Given the description of an element on the screen output the (x, y) to click on. 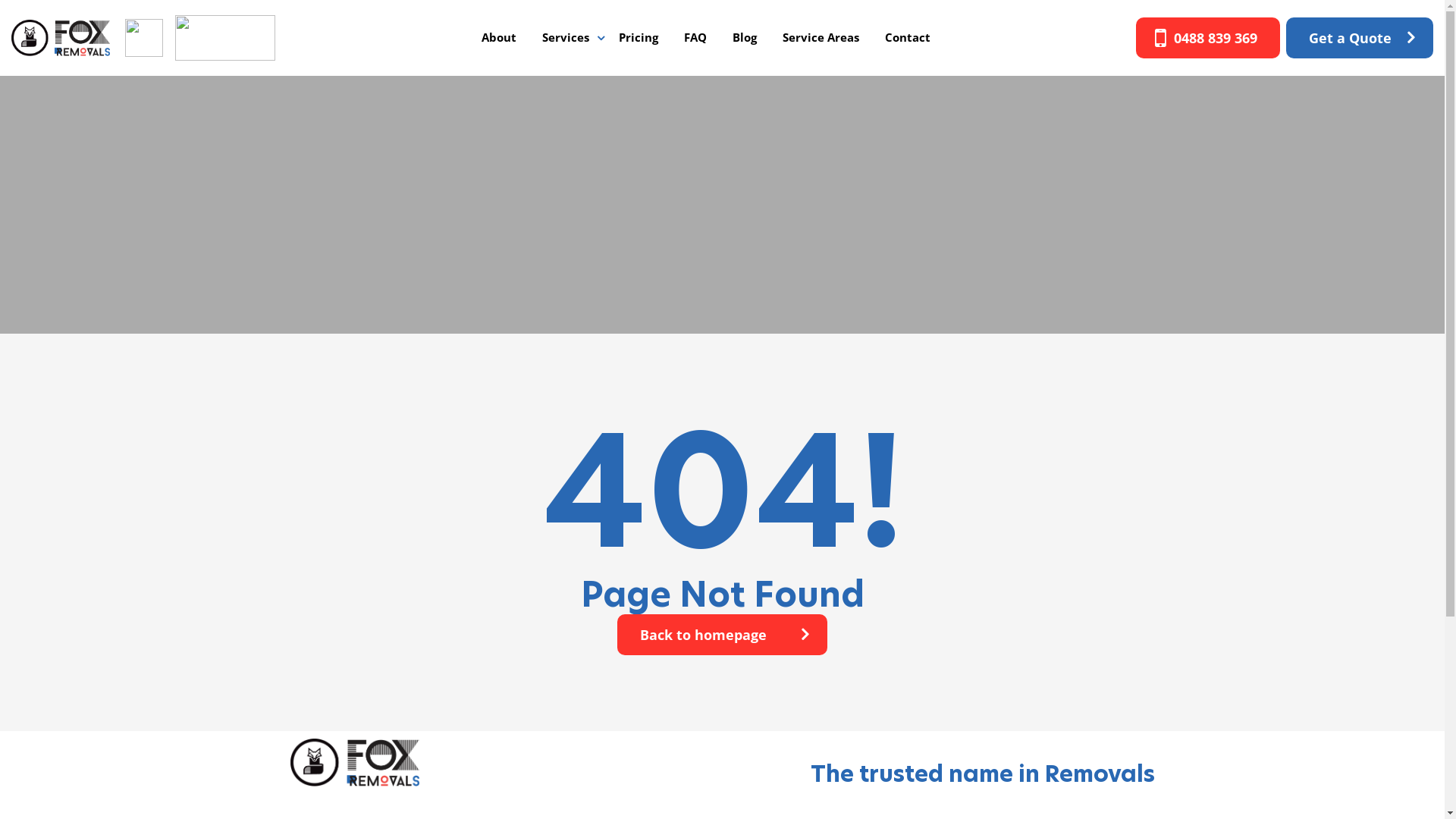
0488 839 369 Element type: text (1207, 37)
Pricing Element type: text (638, 37)
Get a Quote Element type: text (1359, 37)
Blog Element type: text (744, 37)
Services Element type: text (565, 37)
Service Areas Element type: text (820, 37)
About Element type: text (498, 37)
Contact Element type: text (907, 37)
Back to homepage Element type: text (722, 634)
FAQ Element type: text (695, 37)
